Given the description of an element on the screen output the (x, y) to click on. 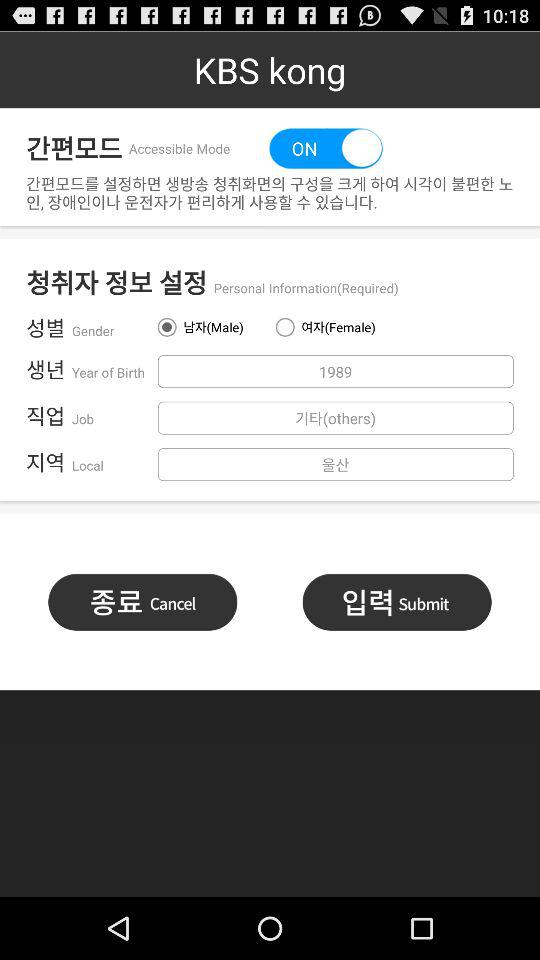
turn on the icon below personal information(required) (328, 327)
